Given the description of an element on the screen output the (x, y) to click on. 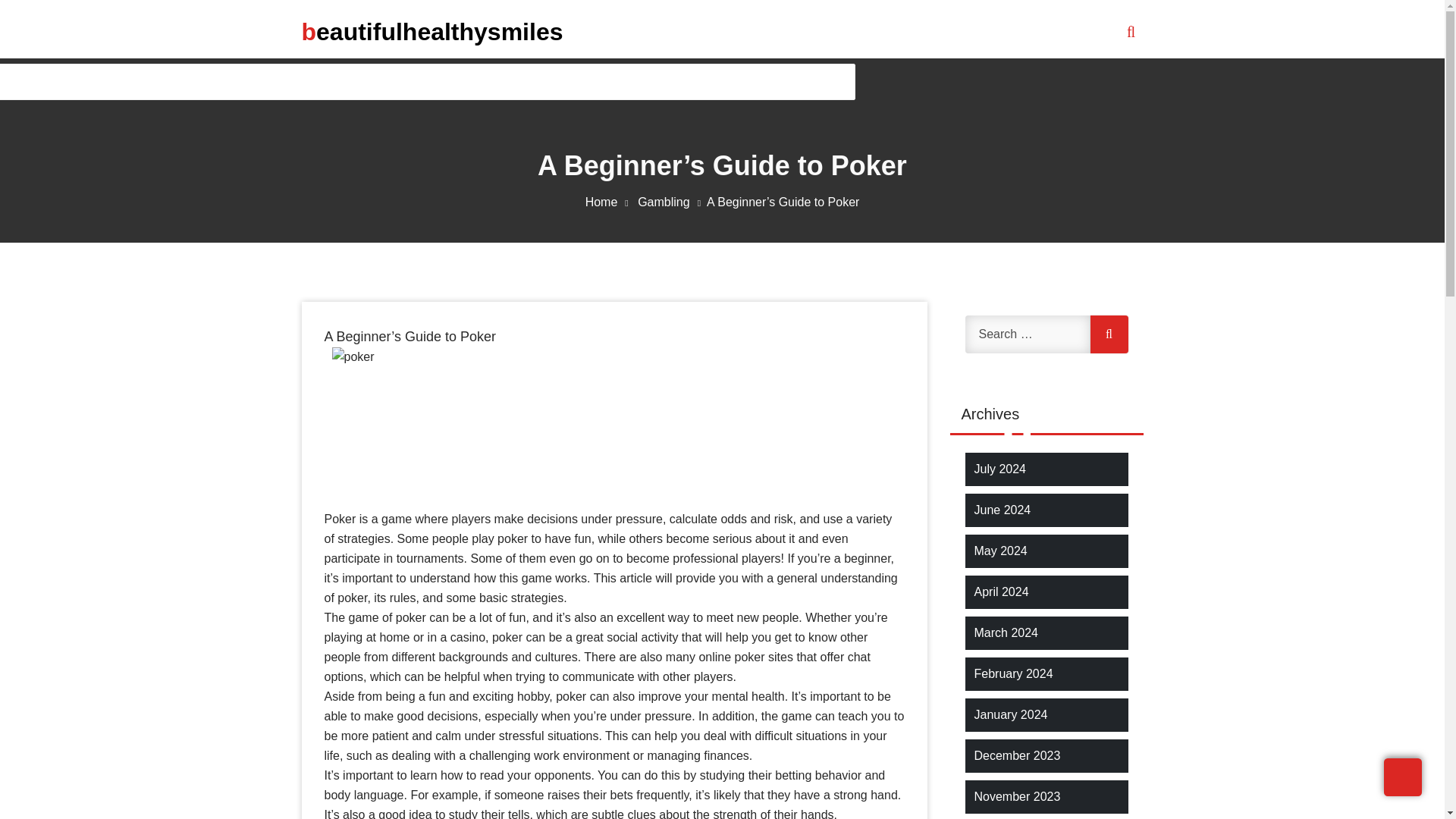
November 2023 (1016, 796)
July 2024 (1000, 469)
Gambling (671, 201)
beautifulhealthysmiles (432, 31)
Home (609, 201)
December 2023 (1016, 755)
February 2024 (1013, 674)
January 2024 (1010, 714)
March 2024 (1006, 633)
May 2024 (1000, 551)
April 2024 (1000, 592)
June 2024 (1002, 510)
